Given the description of an element on the screen output the (x, y) to click on. 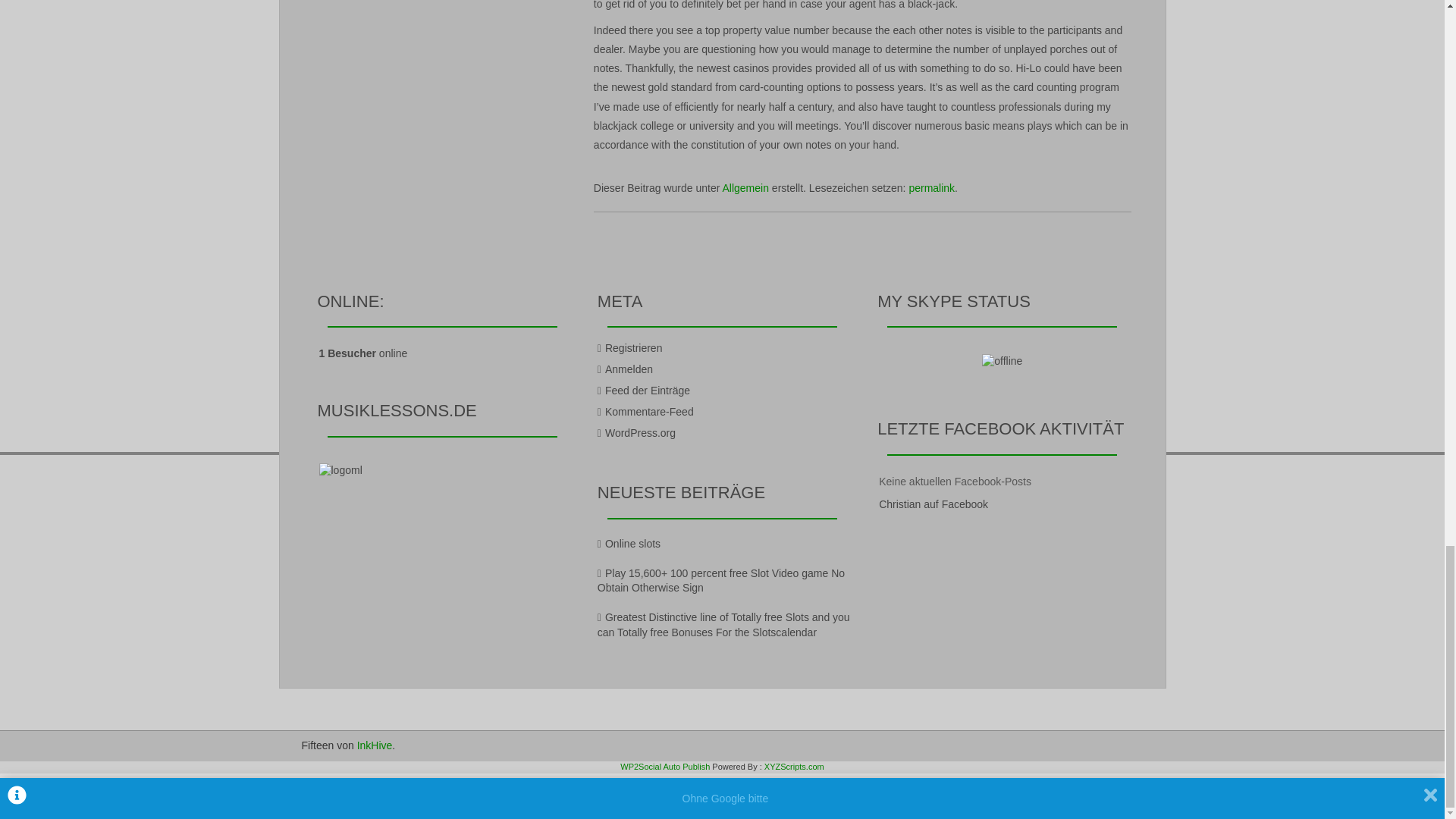
WP2Social Auto Publish (665, 766)
Allgemein (745, 187)
